Given the description of an element on the screen output the (x, y) to click on. 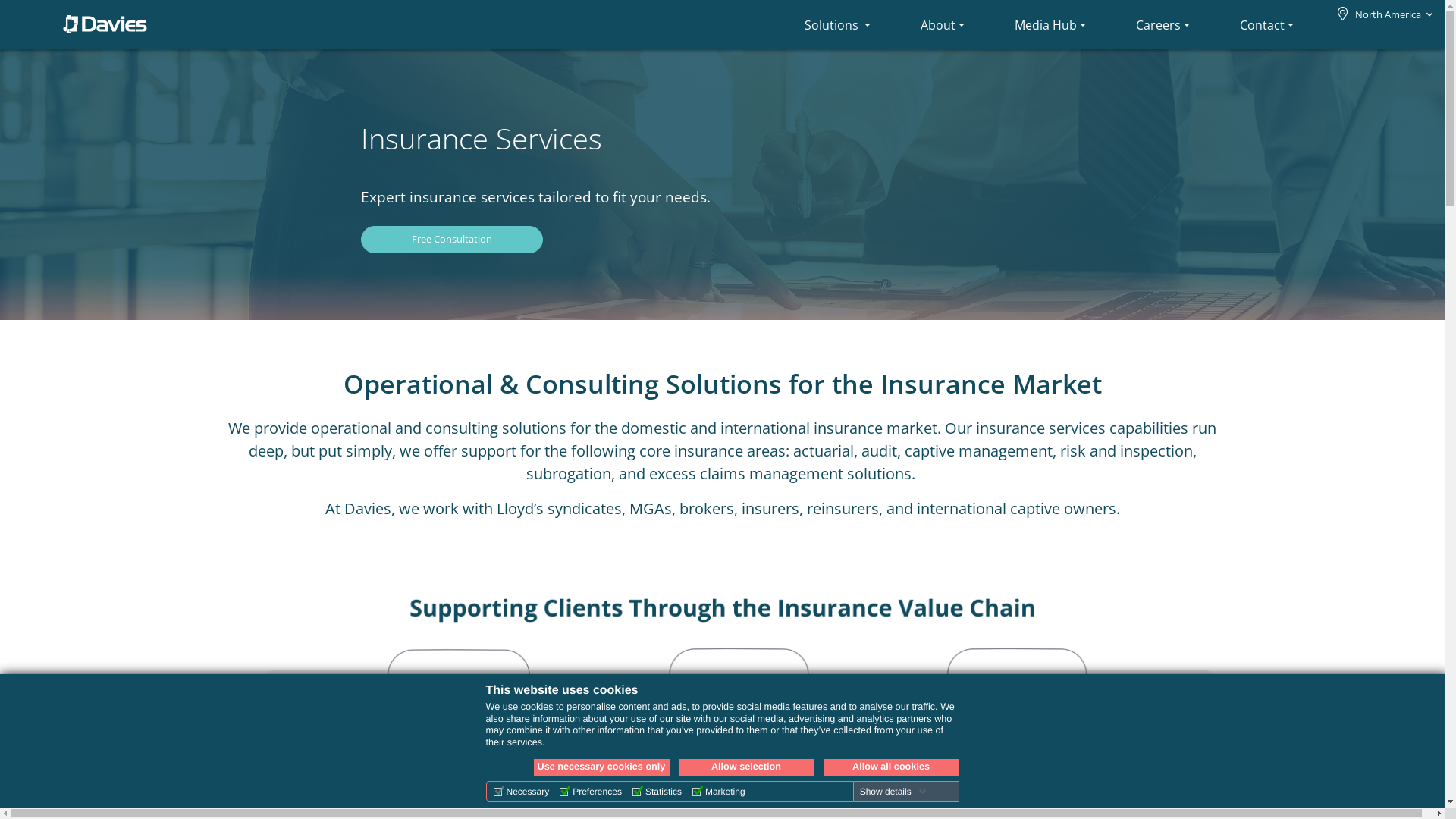
Solutions Element type: text (837, 24)
Media Hub Element type: text (1049, 24)
Show details Element type: text (892, 791)
Careers Element type: text (1162, 24)
Allow all cookies Element type: text (891, 767)
Use necessary cookies only Element type: text (601, 767)
Contact Element type: text (1266, 24)
About Element type: text (942, 24)
North America Element type: text (1388, 14)
Allow selection Element type: text (745, 767)
Free Consultation Element type: text (451, 239)
